Given the description of an element on the screen output the (x, y) to click on. 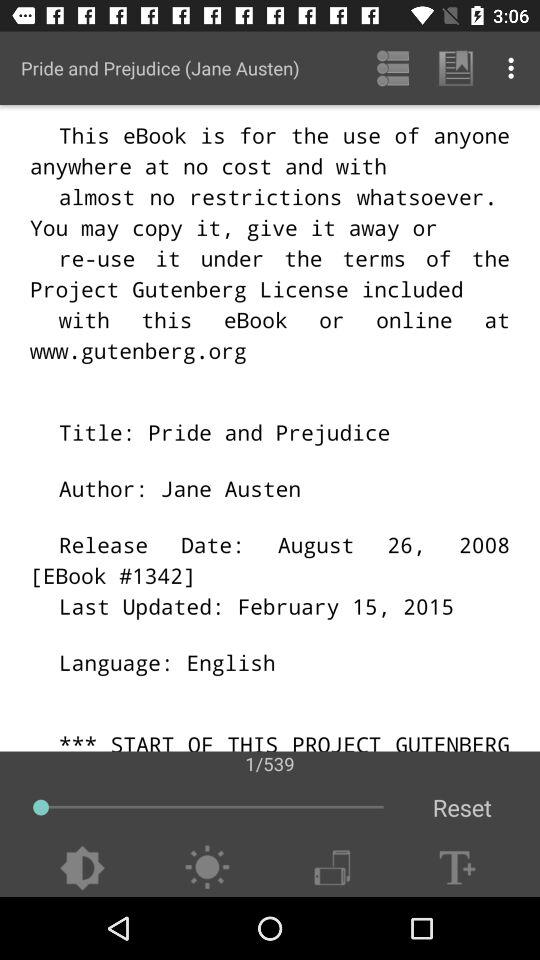
increase brightness (206, 867)
